Given the description of an element on the screen output the (x, y) to click on. 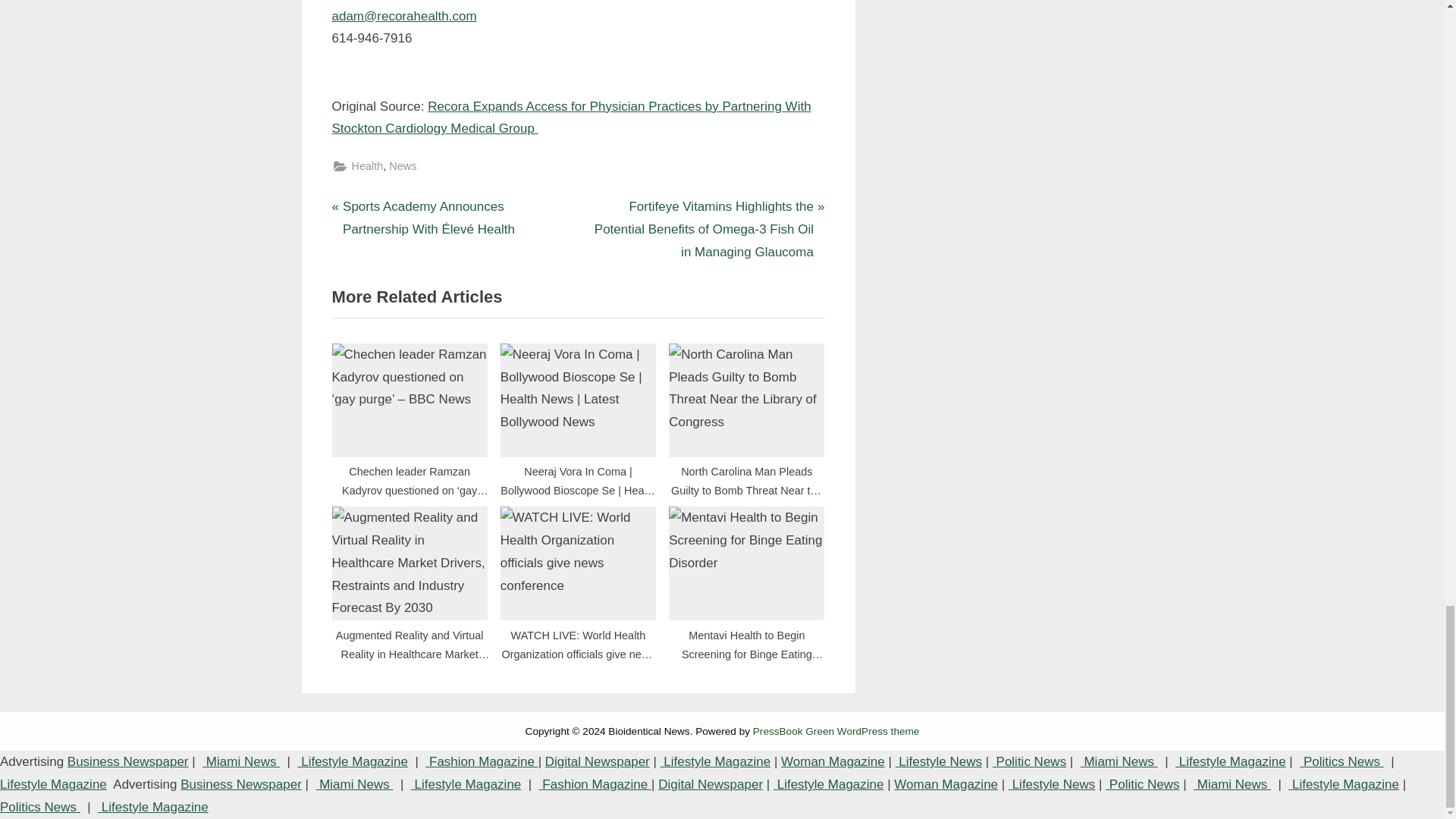
PressBook Green WordPress theme (836, 731)
Mentavi Health to Begin Screening for Binge Eating Disorder (746, 578)
News (402, 166)
Mentavi Health to Begin Screening for Binge Eating Disorder (746, 562)
